Given the description of an element on the screen output the (x, y) to click on. 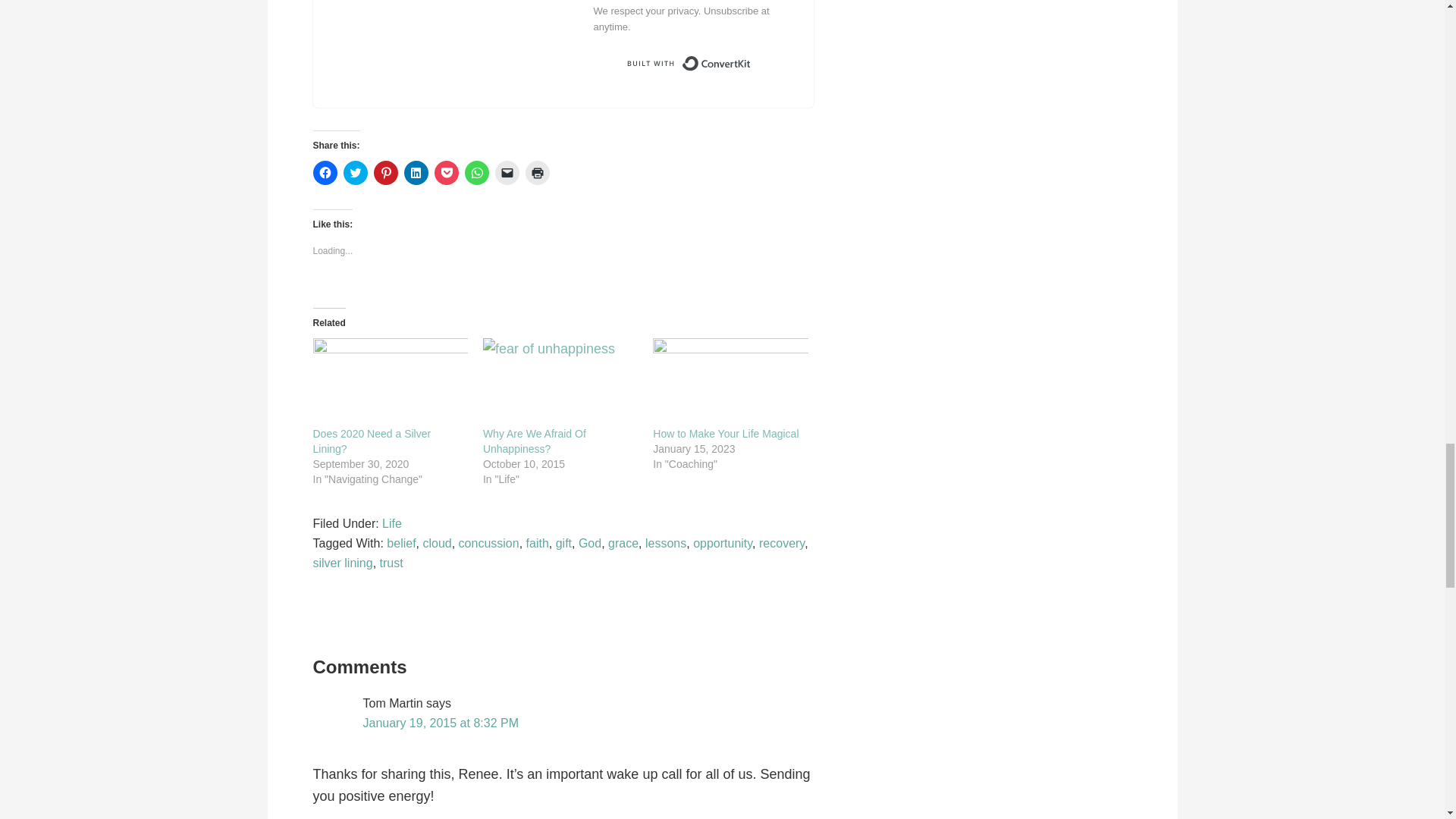
Click to share on Pocket (445, 172)
Why Are We Afraid Of Unhappiness? (534, 441)
Built with ConvertKit (687, 62)
Click to share on Facebook (324, 172)
How to Make Your Life Magical (730, 382)
Click to share on Twitter (354, 172)
Why Are We Afraid Of Unhappiness? (560, 382)
Click to share on LinkedIn (415, 172)
Click to share on WhatsApp (475, 172)
Click to print (536, 172)
